Given the description of an element on the screen output the (x, y) to click on. 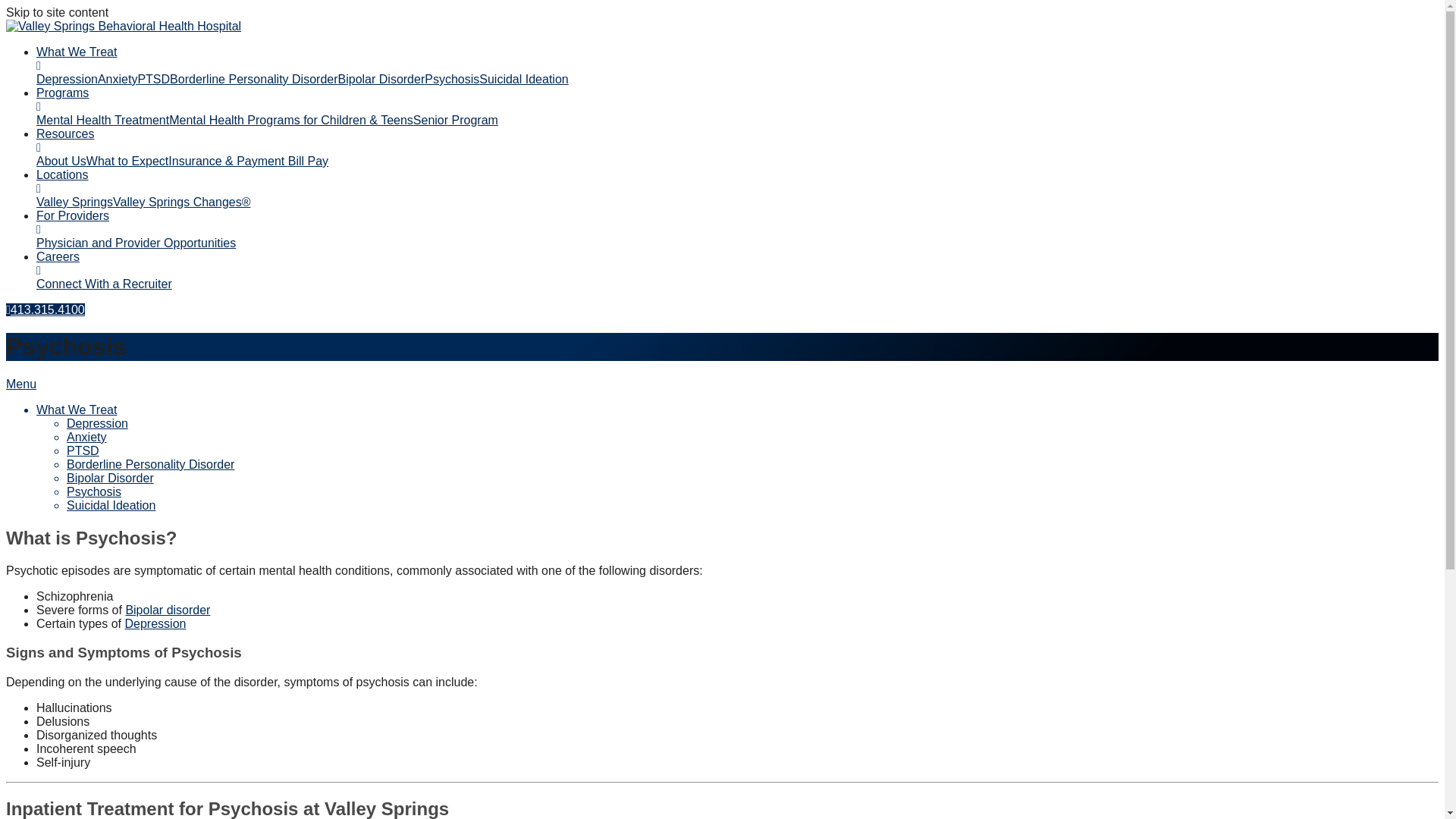
Bipolar Disorder (110, 477)
Borderline Personality Disorder (150, 463)
What We Treat (76, 409)
Psychosis (93, 491)
413.315.4100 (44, 309)
Bipolar disorder (167, 609)
Depression (97, 422)
PTSD (82, 450)
Psychosis (452, 78)
What to Expect (126, 160)
What We Treat (76, 51)
About Us (60, 160)
Mental Health Treatment (102, 119)
Menu (20, 383)
Programs (62, 92)
